Given the description of an element on the screen output the (x, y) to click on. 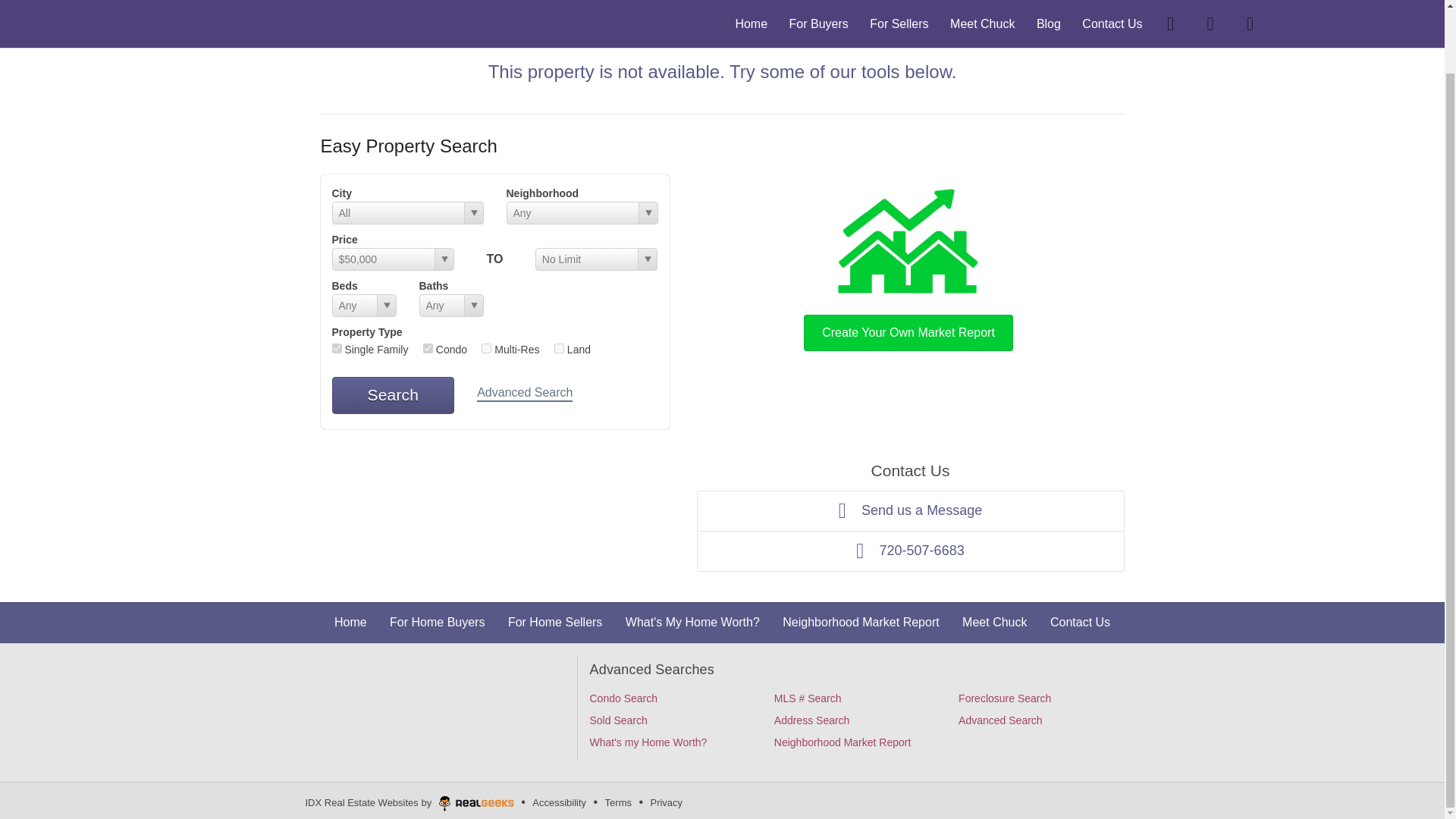
Condo Search (623, 698)
Meet Chuck (994, 621)
Home (350, 621)
Terms (617, 802)
Accessibility (558, 802)
Advanced Search (524, 393)
Send us a Message (909, 510)
IDX Real Estate Websites by (409, 799)
lnd (559, 347)
Create Your Own Market Report (908, 266)
